Given the description of an element on the screen output the (x, y) to click on. 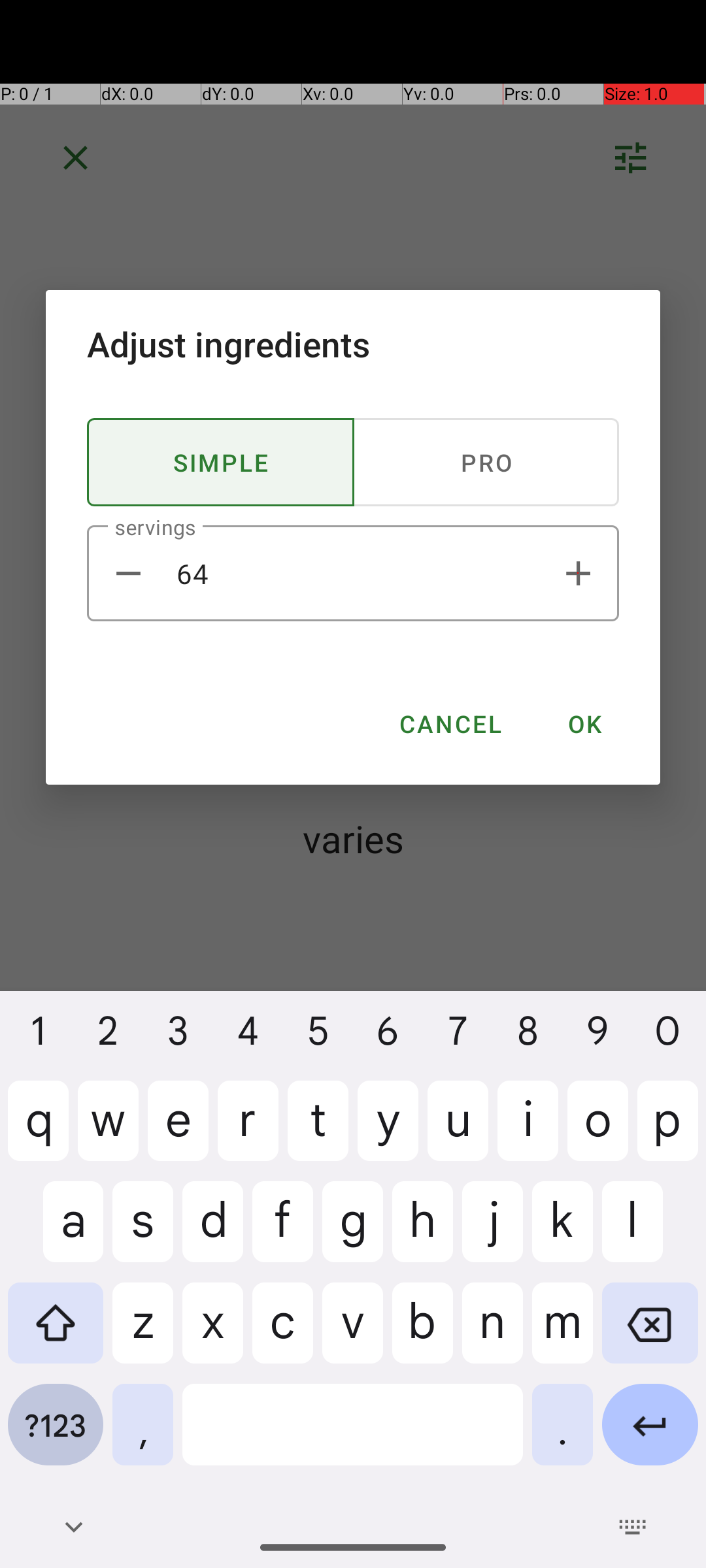
64 Element type: android.widget.EditText (352, 573)
